Given the description of an element on the screen output the (x, y) to click on. 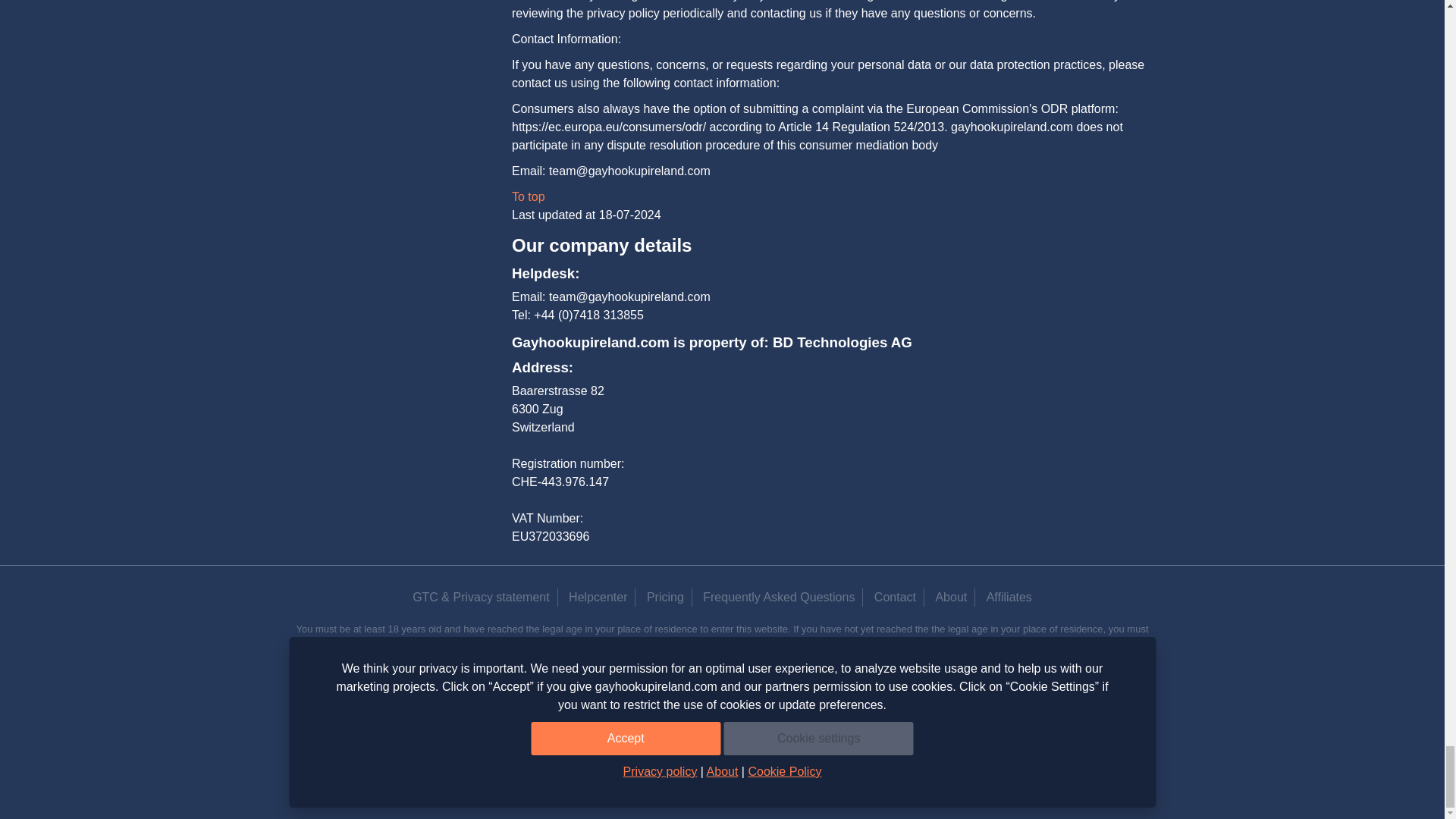
To top (528, 196)
More info (1010, 658)
Contact (894, 596)
Frequently Asked Questions (778, 596)
Helpcenter (597, 596)
Affiliates (1008, 596)
About (950, 596)
Pricing (665, 596)
